Given the description of an element on the screen output the (x, y) to click on. 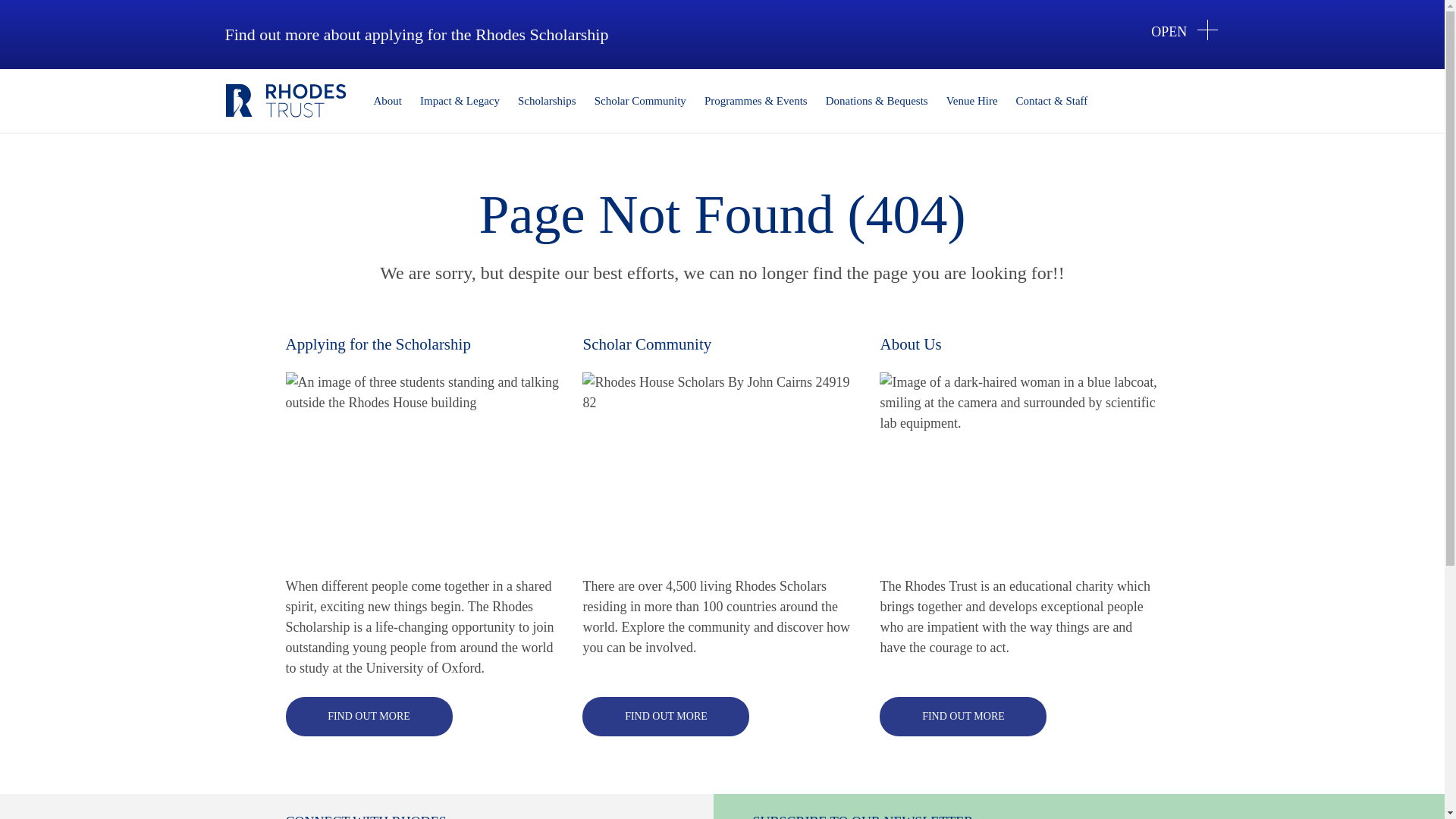
Scholarships (546, 100)
